Given the description of an element on the screen output the (x, y) to click on. 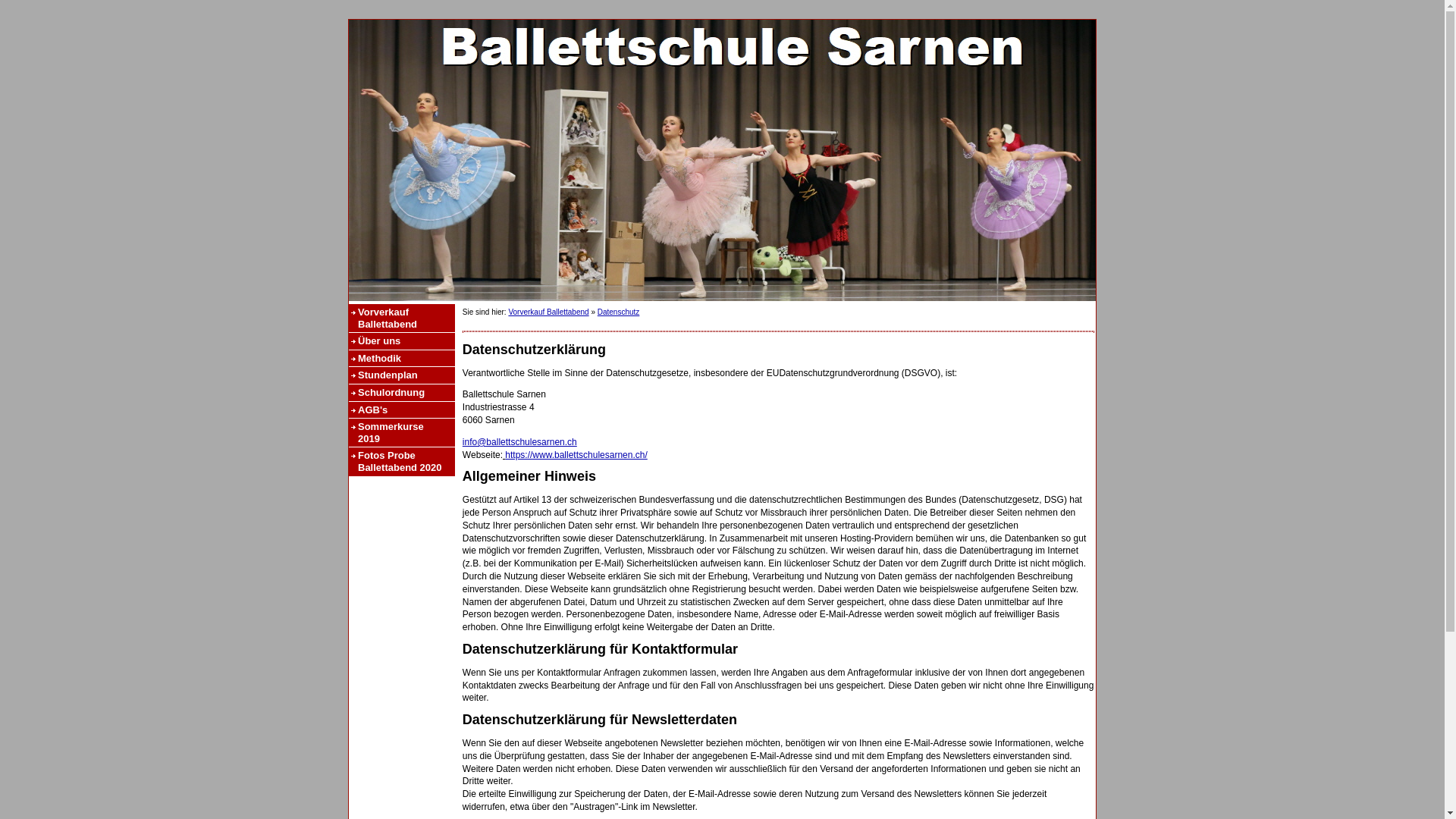
https://www.ballettschulesarnen.ch/ Element type: text (575, 454)
Datenschutz - ballettschulesarnen.ch Element type: hover (721, 160)
Fotos Probe Ballettabend 2020 Element type: text (401, 461)
info@ballettschulesarnen.ch Element type: text (519, 441)
Stundenplan Element type: text (401, 375)
Vorverkauf Ballettabend Element type: text (401, 318)
Datenschutz Element type: text (618, 311)
Methodik Element type: text (401, 358)
Schulordnung Element type: text (401, 392)
Sommerkurse 2019 Element type: text (401, 432)
Vorverkauf Ballettabend Element type: text (548, 311)
AGB's Element type: text (401, 409)
